Given the description of an element on the screen output the (x, y) to click on. 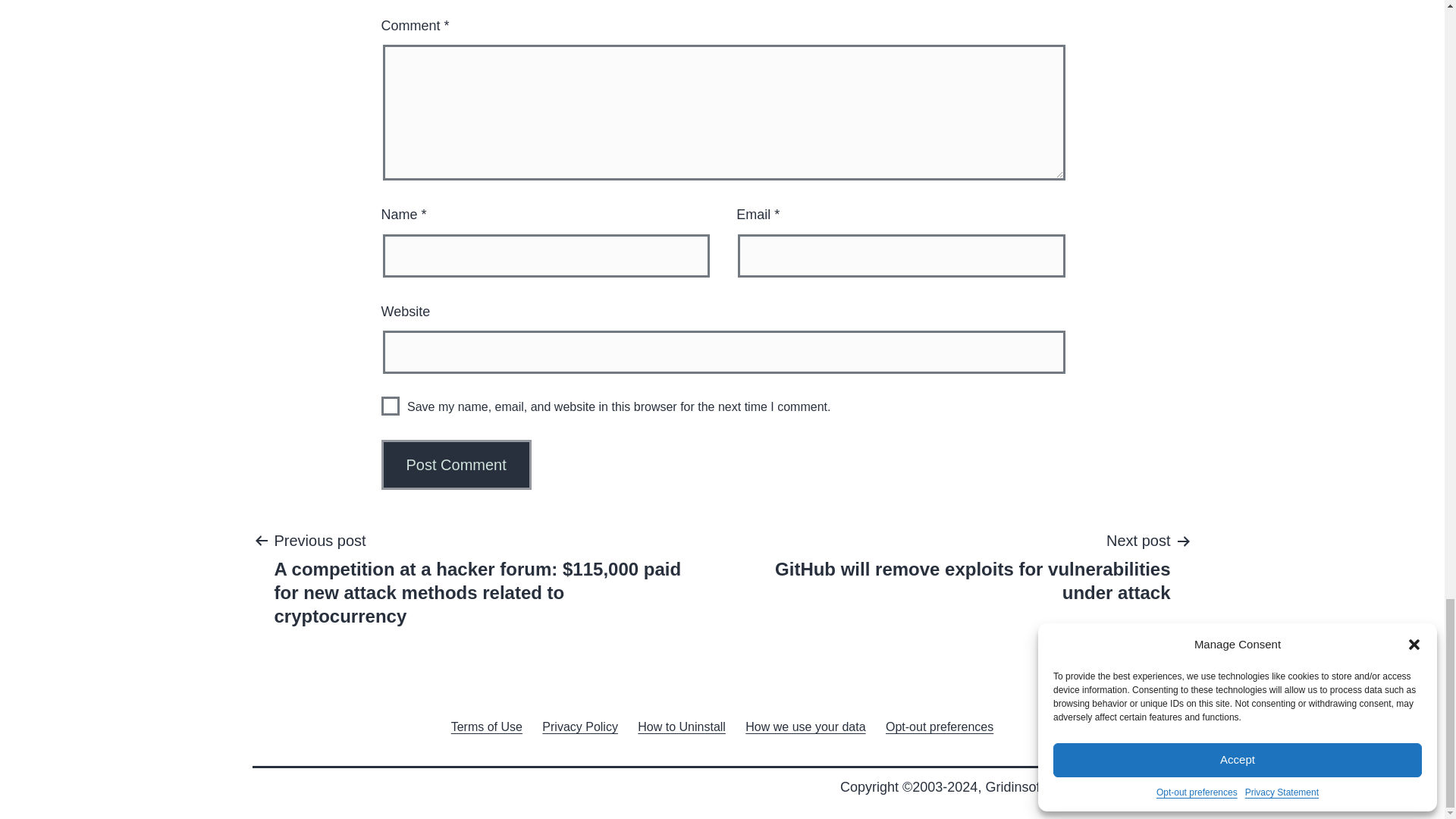
Post Comment (455, 464)
yes (389, 405)
